Given the description of an element on the screen output the (x, y) to click on. 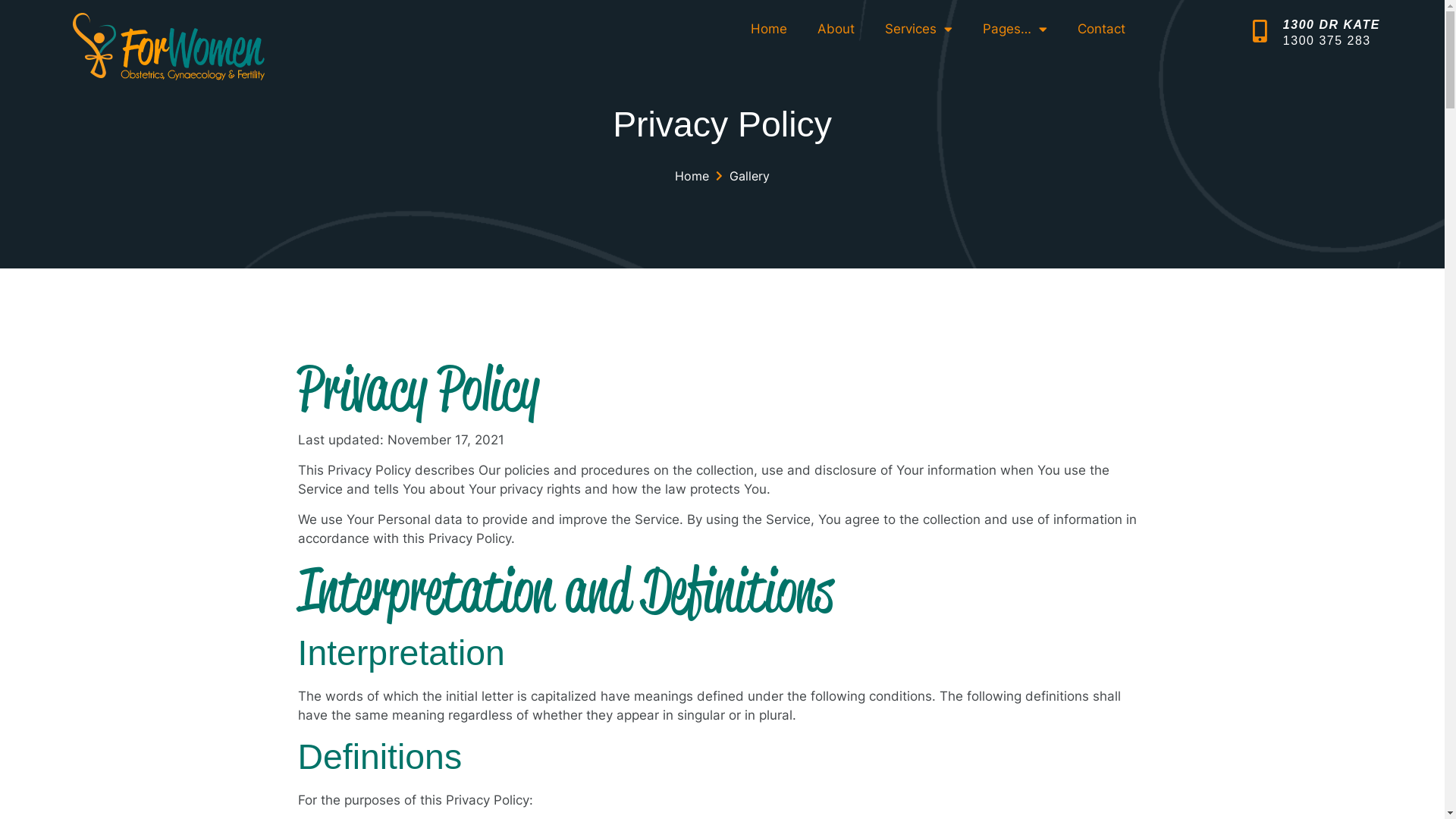
Home Element type: text (691, 175)
Contact Element type: text (1101, 28)
1300 DR KATE Element type: text (1331, 24)
About Element type: text (835, 28)
Services Element type: text (918, 28)
Home Element type: text (768, 28)
